Given the description of an element on the screen output the (x, y) to click on. 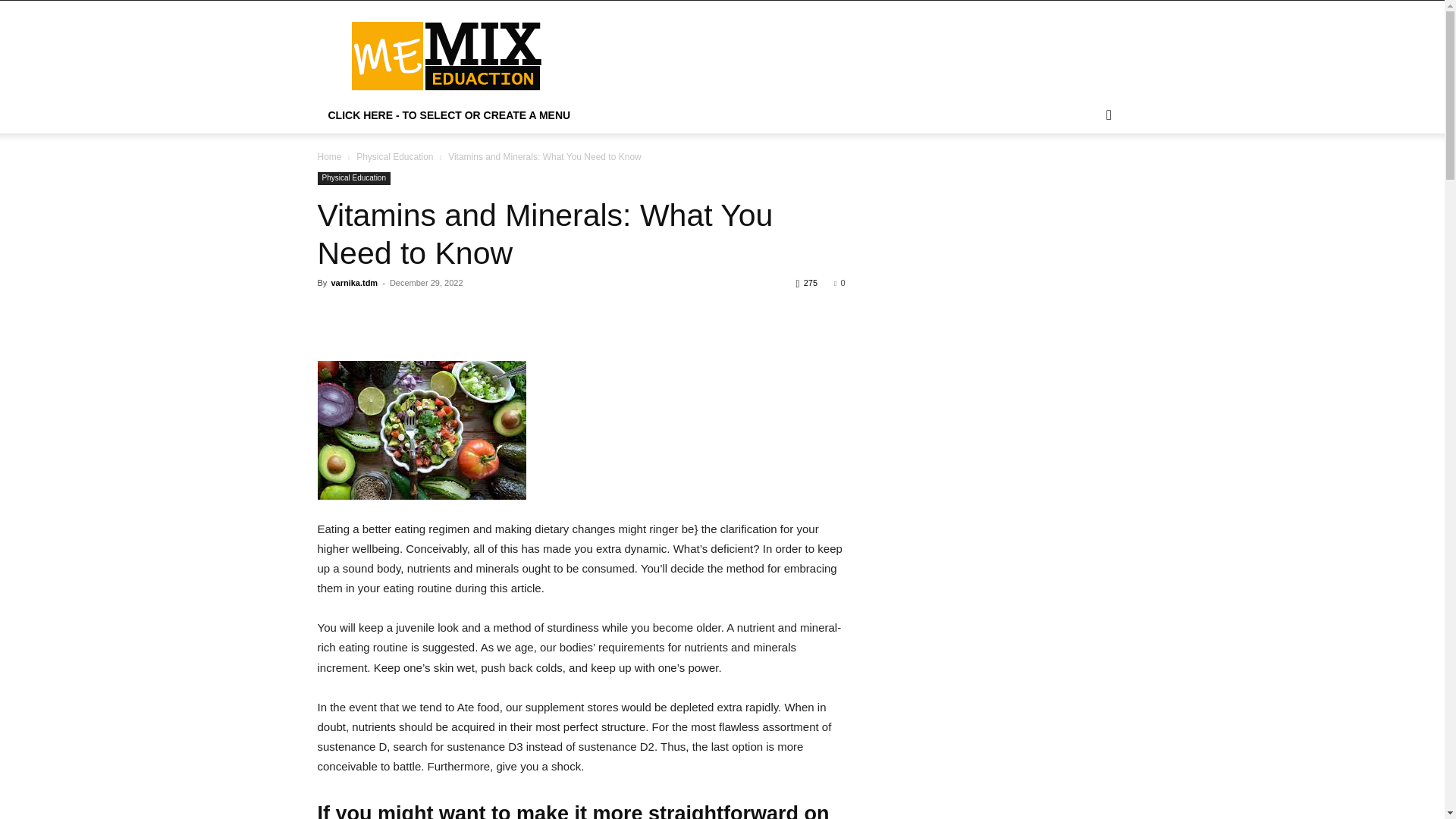
0 (839, 282)
CLICK HERE - TO SELECT OR CREATE A MENU (448, 114)
Minerals (421, 430)
Home (328, 156)
Search (1085, 175)
View all posts in Physical Education (394, 156)
varnika.tdm (353, 282)
Physical Education (353, 178)
Physical Education (394, 156)
